Given the description of an element on the screen output the (x, y) to click on. 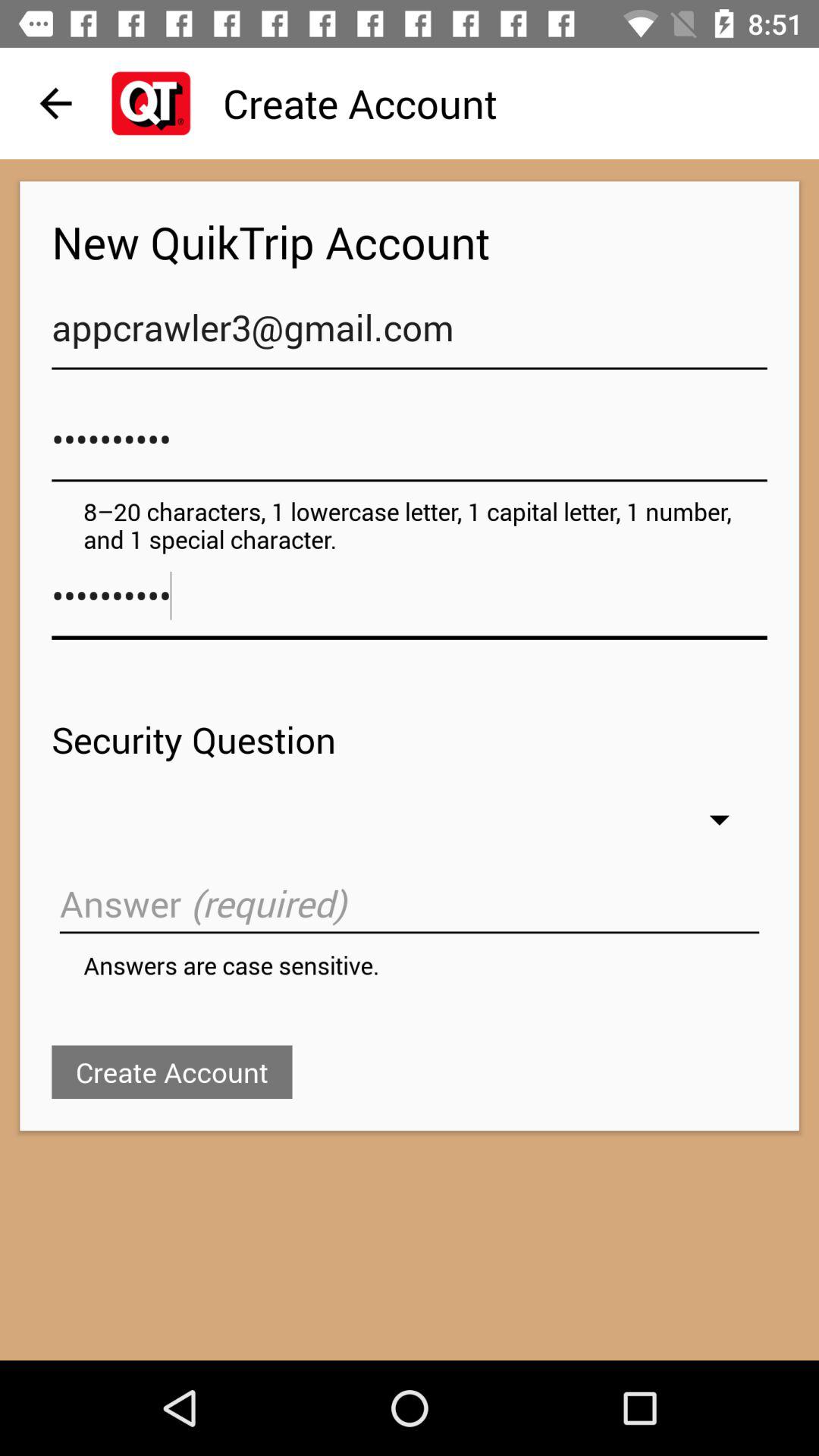
press the appcrawler3@gmail.com (409, 335)
